Given the description of an element on the screen output the (x, y) to click on. 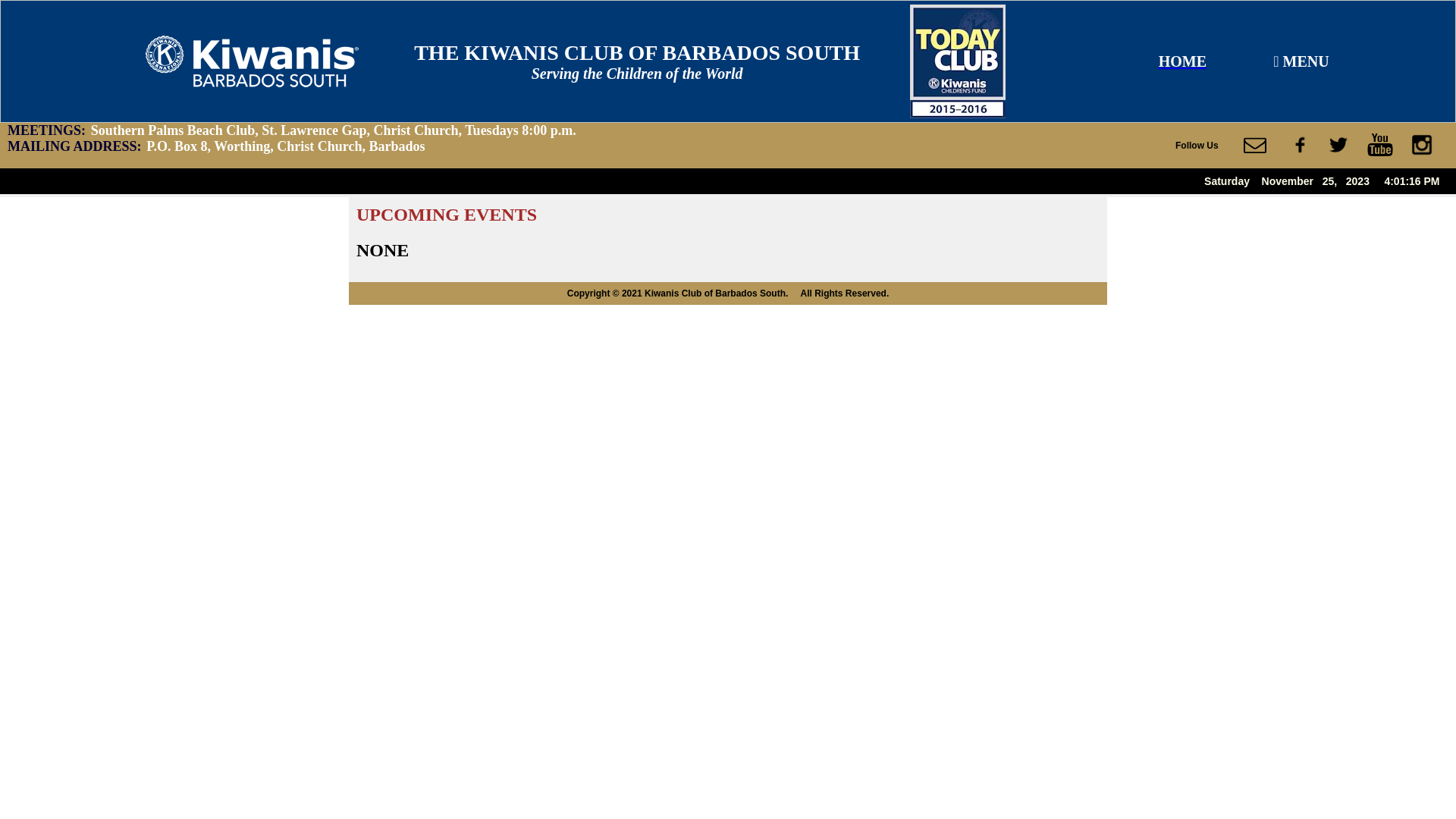
YouTube Element type: hover (1380, 144)
Instagram Element type: hover (1421, 144)
Twitter Element type: hover (1338, 144)
Email Element type: hover (1254, 144)
Facebook Element type: hover (1300, 144)
HOME Element type: text (1183, 61)
